Given the description of an element on the screen output the (x, y) to click on. 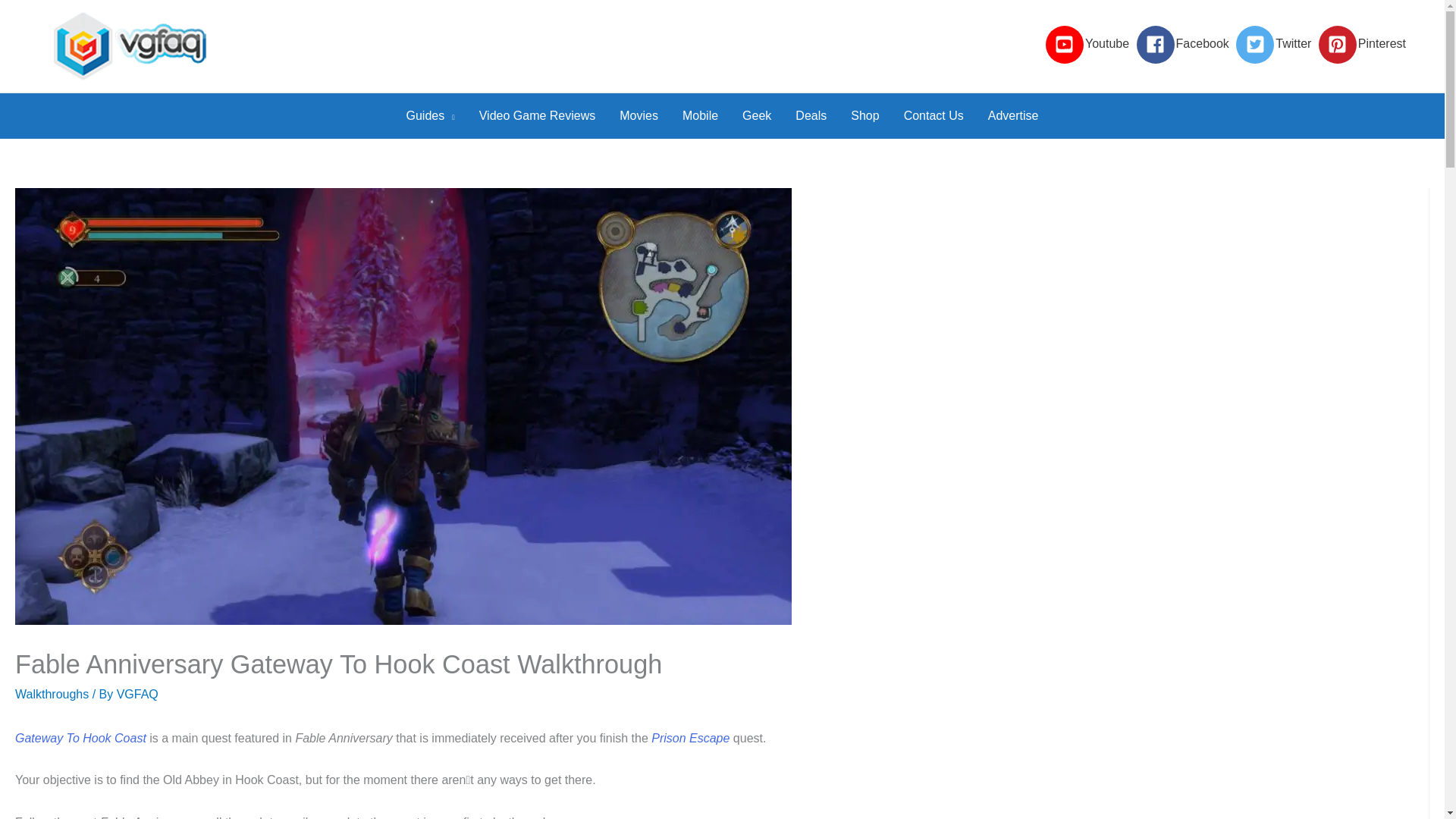
Twitter (1275, 44)
Guides (430, 115)
Shop (864, 115)
Deals (810, 115)
View all posts by VGFAQ (137, 694)
Mobile (699, 115)
Movies (638, 115)
Youtube (1088, 44)
Geek (756, 115)
Facebook (1185, 44)
